Given the description of an element on the screen output the (x, y) to click on. 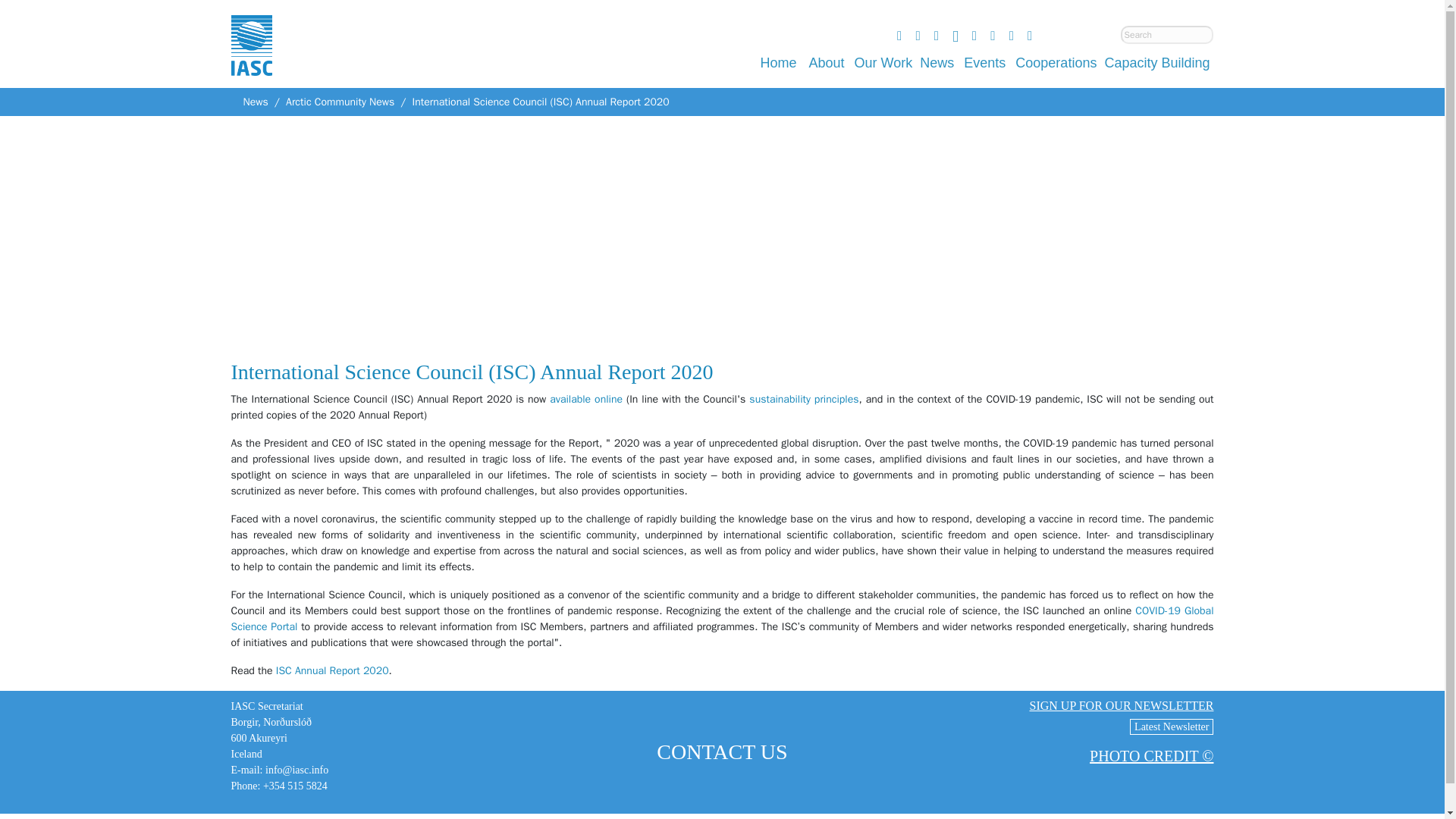
Newsletter sign up (1120, 705)
IASC Newsletter (1170, 726)
About (826, 62)
Contact us! (1011, 35)
Photo Credit (1150, 755)
Facebook (917, 35)
Intranet (992, 35)
Forms (1029, 35)
Signup for Newsletter (974, 35)
International Arctic Science Committee (250, 61)
Home (778, 62)
X - Twitter (936, 35)
Linked In (955, 35)
Youtube (898, 35)
